Given the description of an element on the screen output the (x, y) to click on. 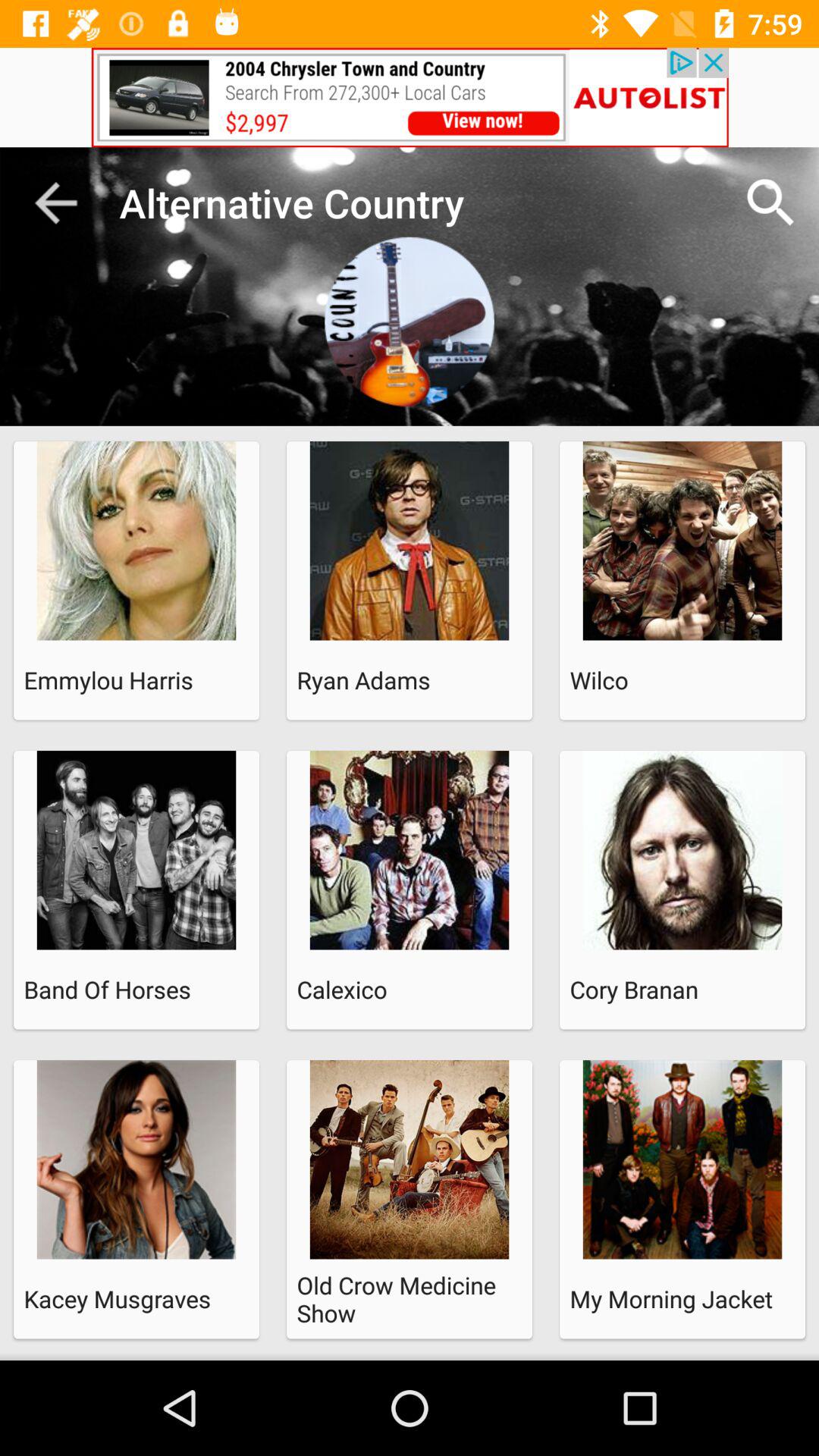
advertisement image (409, 97)
